Given the description of an element on the screen output the (x, y) to click on. 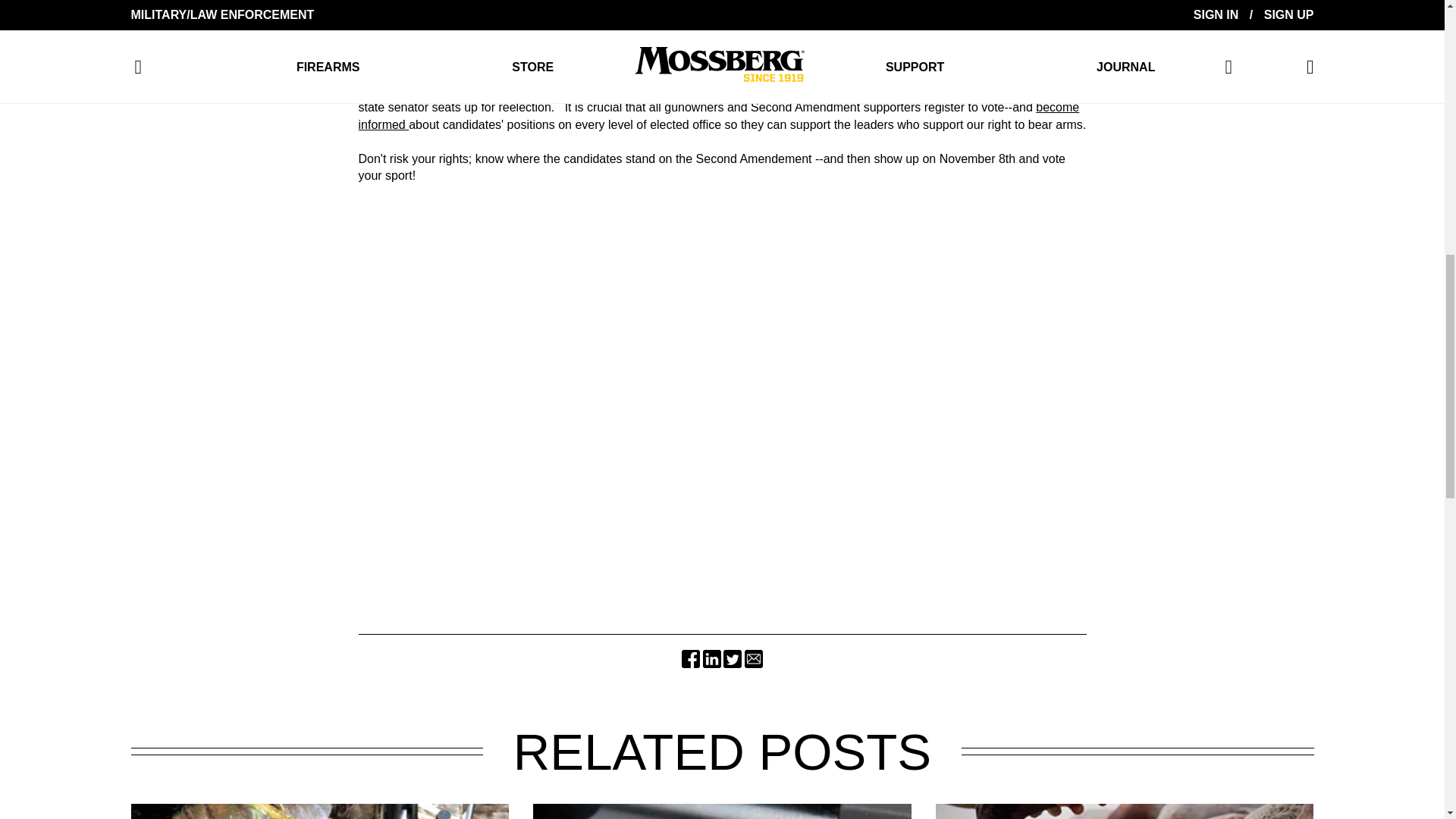
become informed (718, 115)
